Given the description of an element on the screen output the (x, y) to click on. 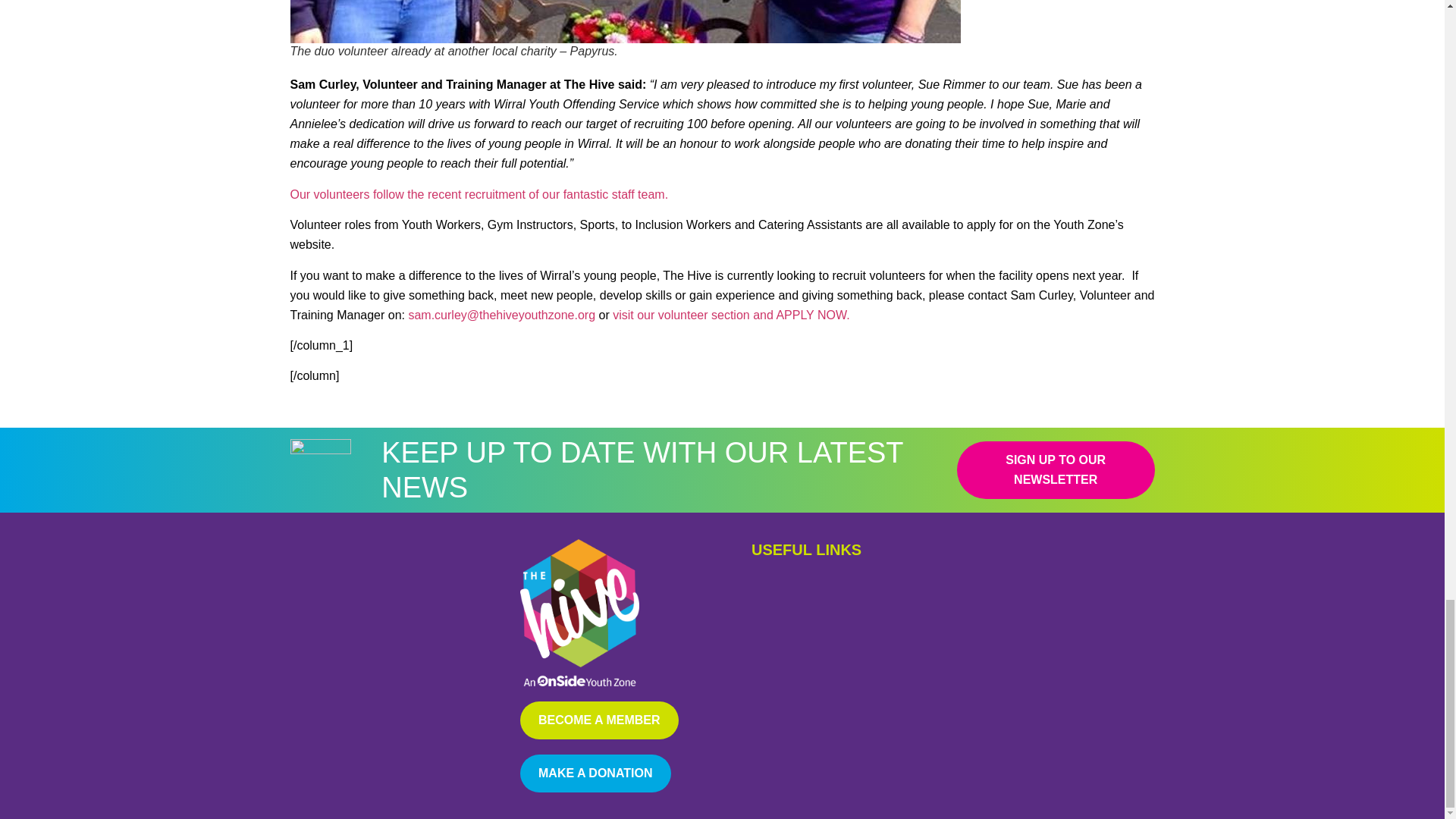
BECOME A MEMBER (598, 720)
visit our volunteer section and APPLY NOW. (730, 314)
SIGN UP TO OUR NEWSLETTER (1055, 469)
MAKE A DONATION (595, 773)
